Given the description of an element on the screen output the (x, y) to click on. 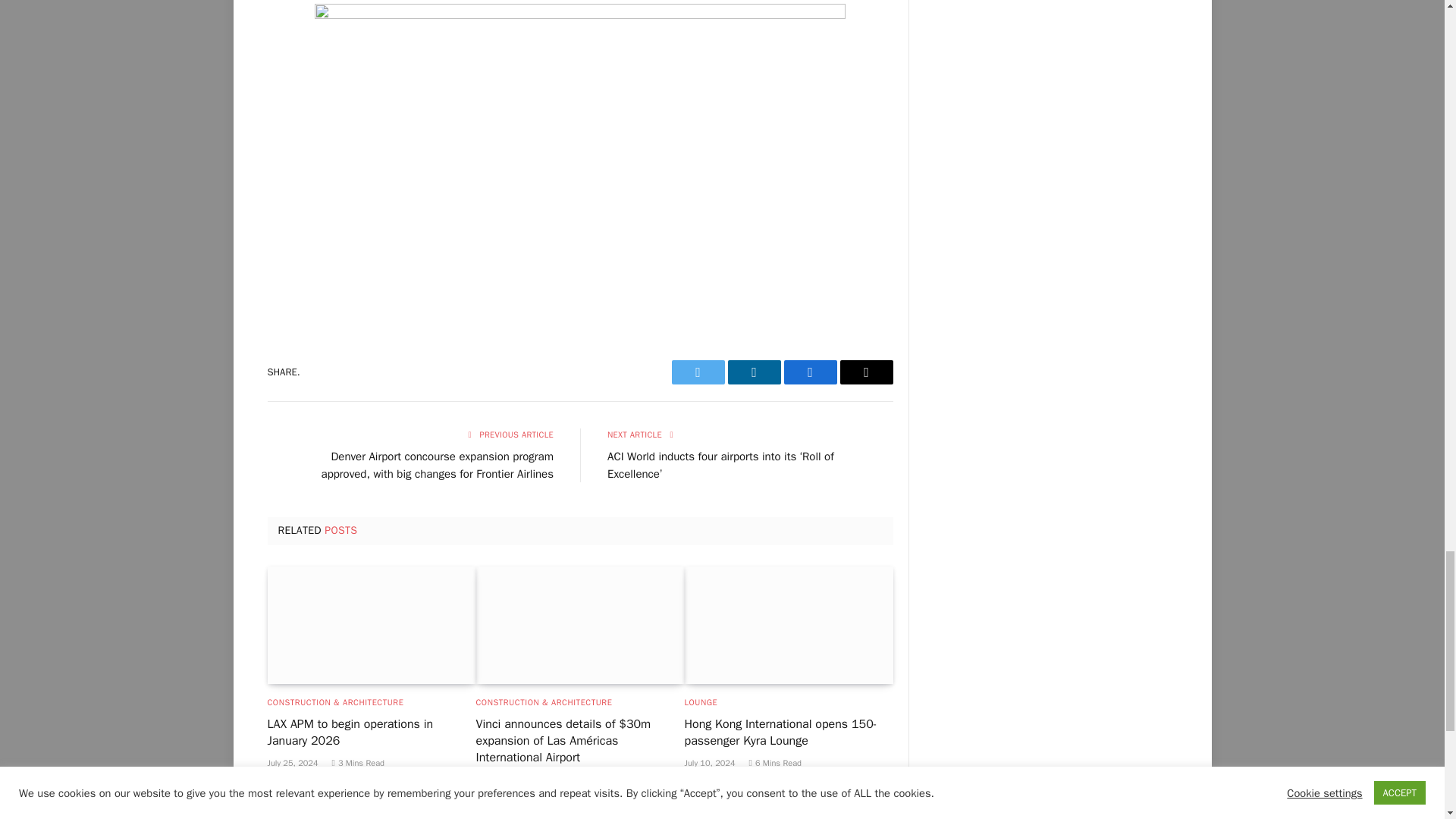
LAX APM to begin operations in January 2026 (371, 624)
Share on LinkedIn (754, 372)
Share on Facebook (810, 372)
Share via Email (866, 372)
